Given the description of an element on the screen output the (x, y) to click on. 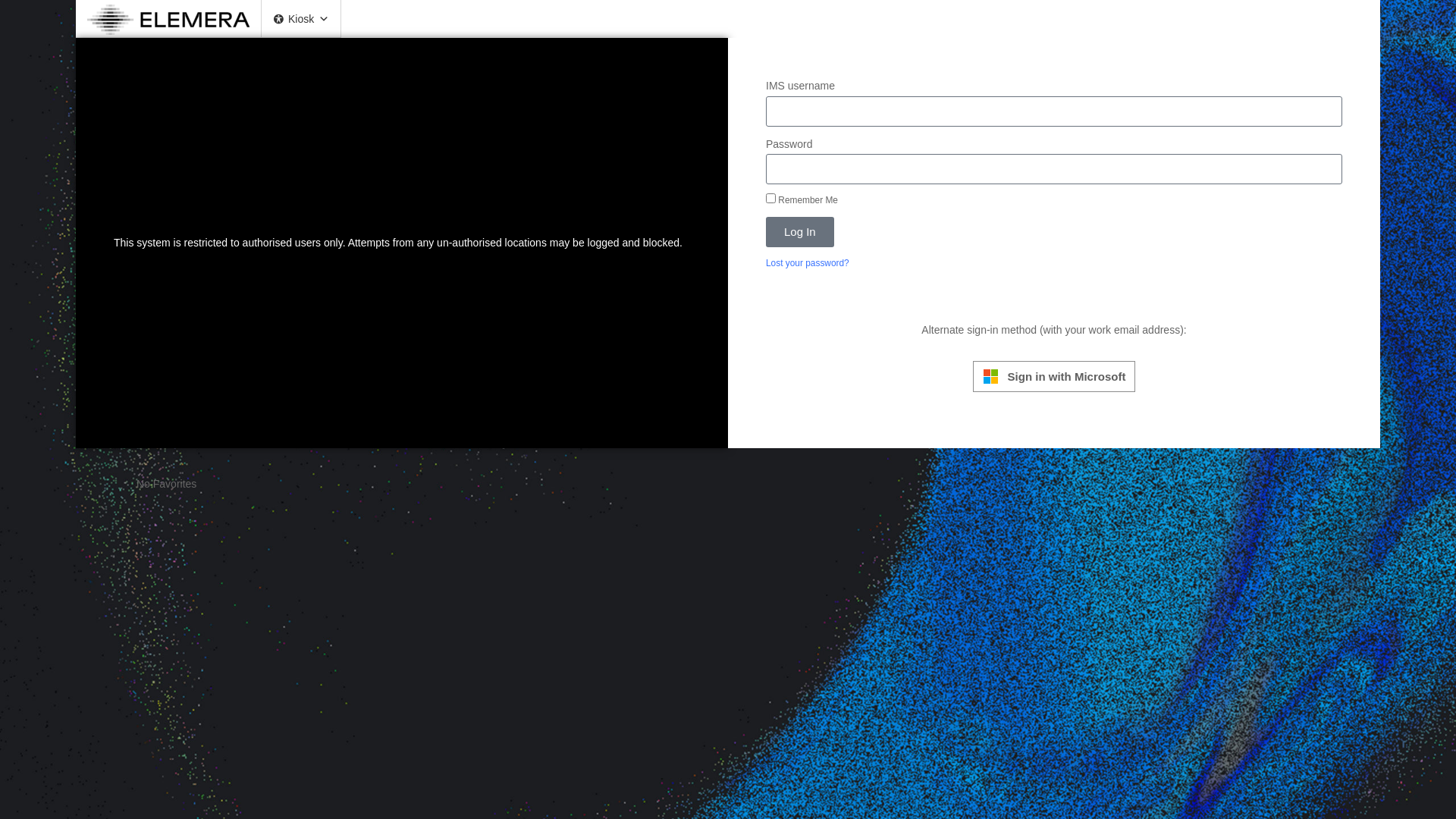
Log In Element type: text (799, 231)
Sign in with Microsoft Element type: text (1053, 376)
Kiosk Element type: text (301, 18)
Lost your password? Element type: text (807, 263)
